Given the description of an element on the screen output the (x, y) to click on. 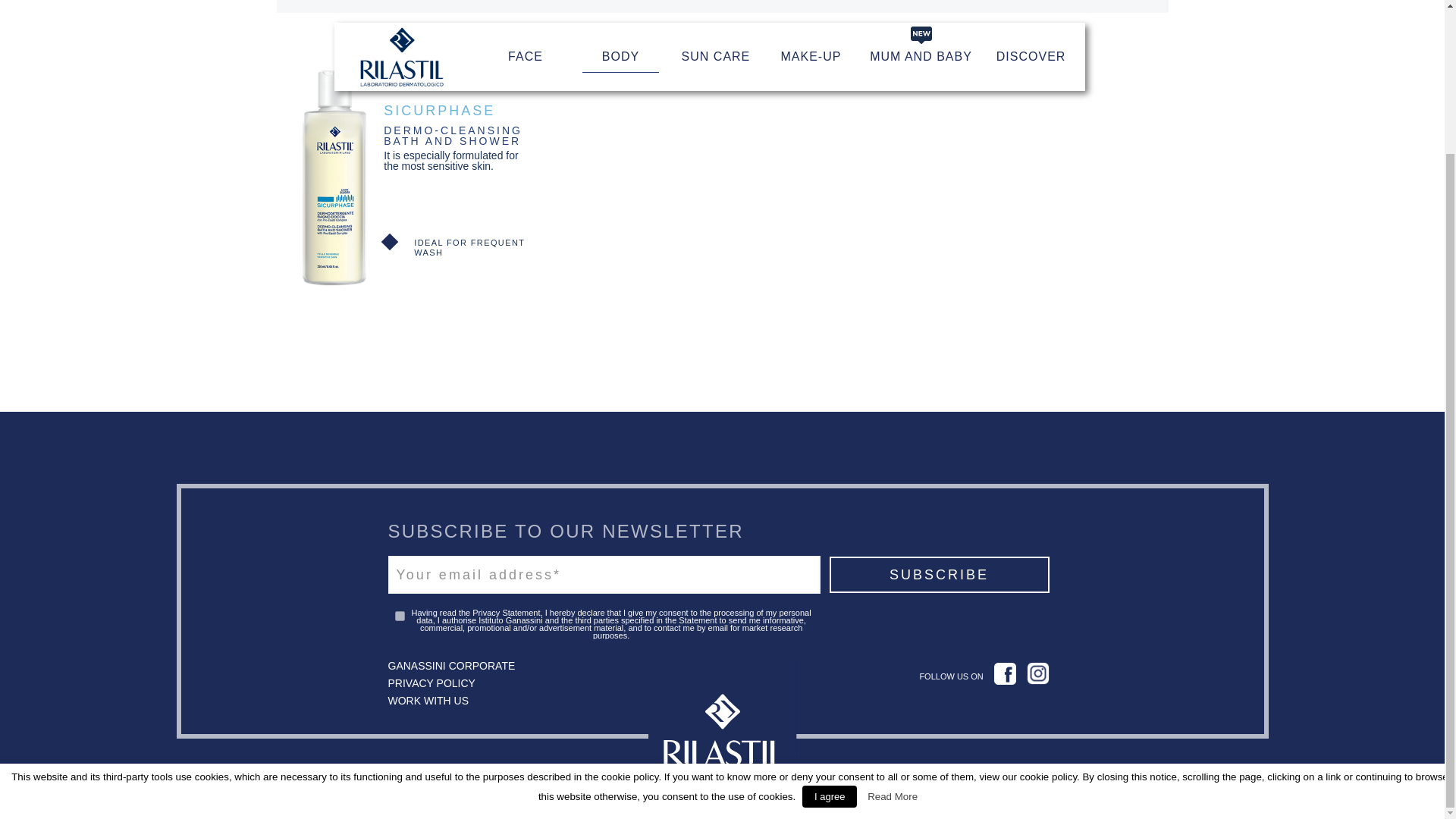
yes (399, 615)
